Given the description of an element on the screen output the (x, y) to click on. 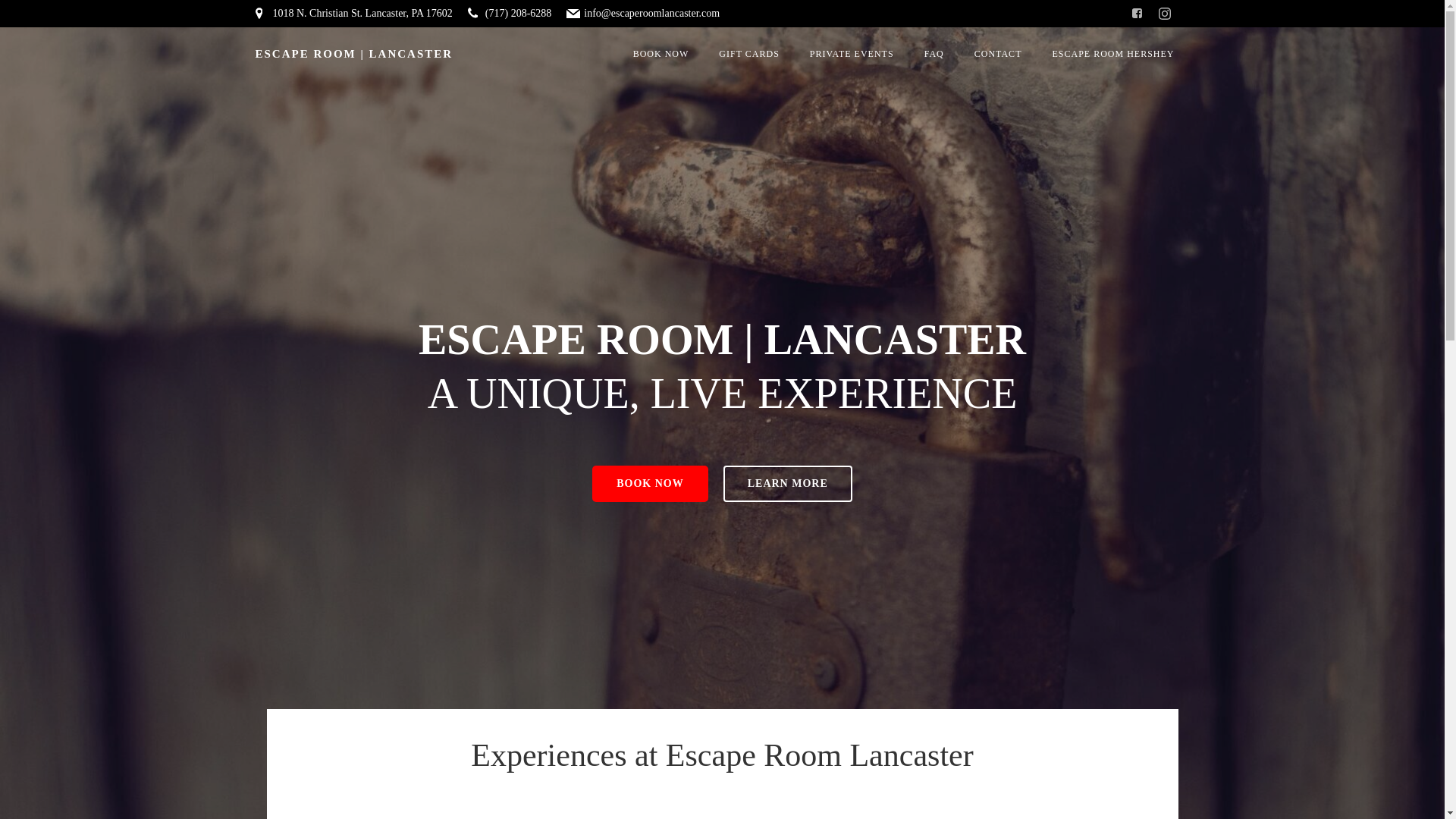
GIFT CARDS (748, 53)
1018 N. Christian St. Lancaster, PA 17602 (352, 13)
ESCAPE ROOM HERSHEY (1112, 53)
PRIVATE EVENTS (851, 53)
BOOK NOW (649, 484)
LEARN MORE (787, 484)
FAQ (933, 53)
BOOK NOW (660, 53)
CONTACT (998, 53)
